Given the description of an element on the screen output the (x, y) to click on. 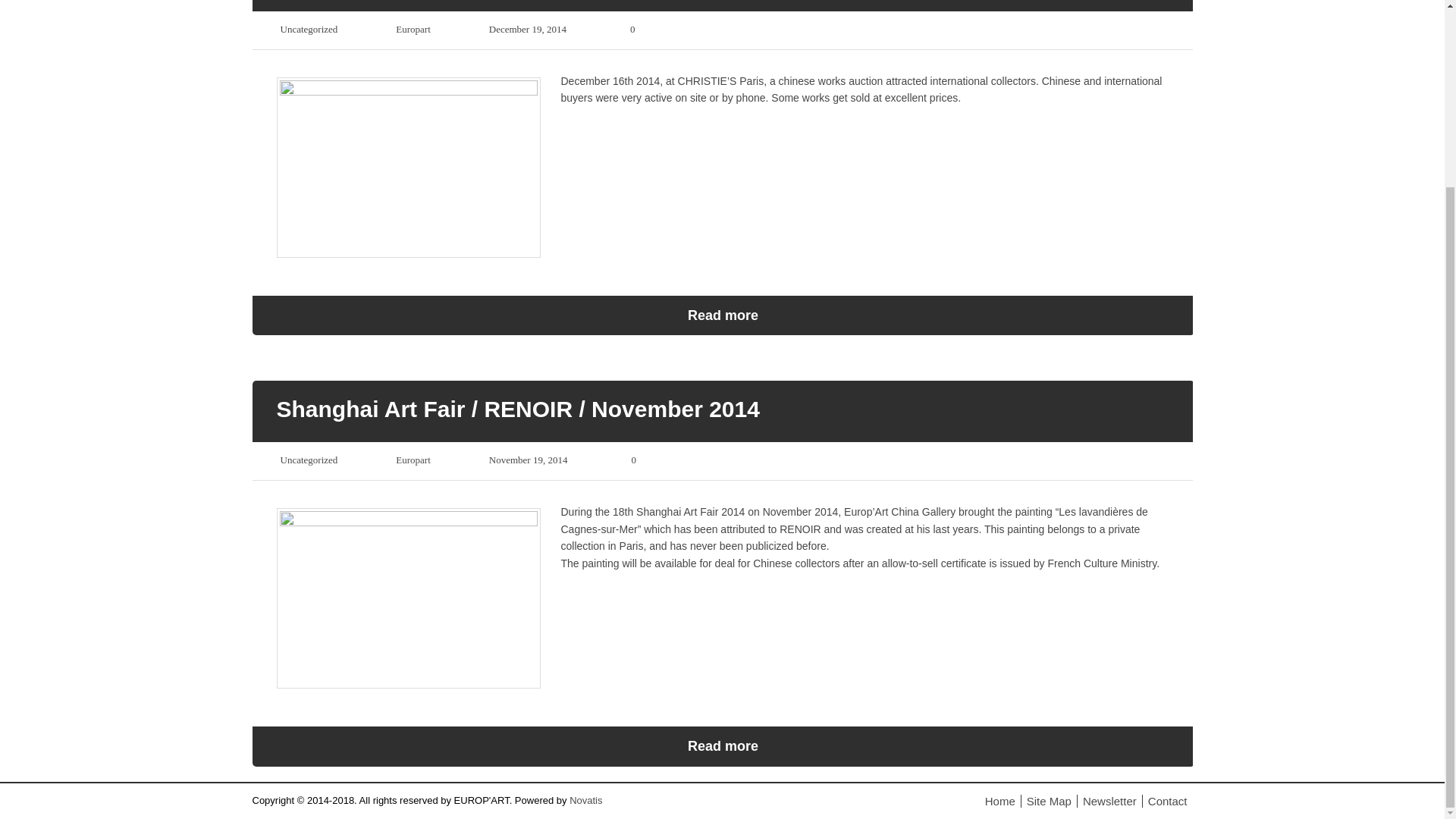
Read more (722, 314)
Europart (412, 460)
Novatis (585, 799)
Read more (722, 745)
Home (999, 800)
Europart (412, 29)
Site Map (1048, 800)
